Given the description of an element on the screen output the (x, y) to click on. 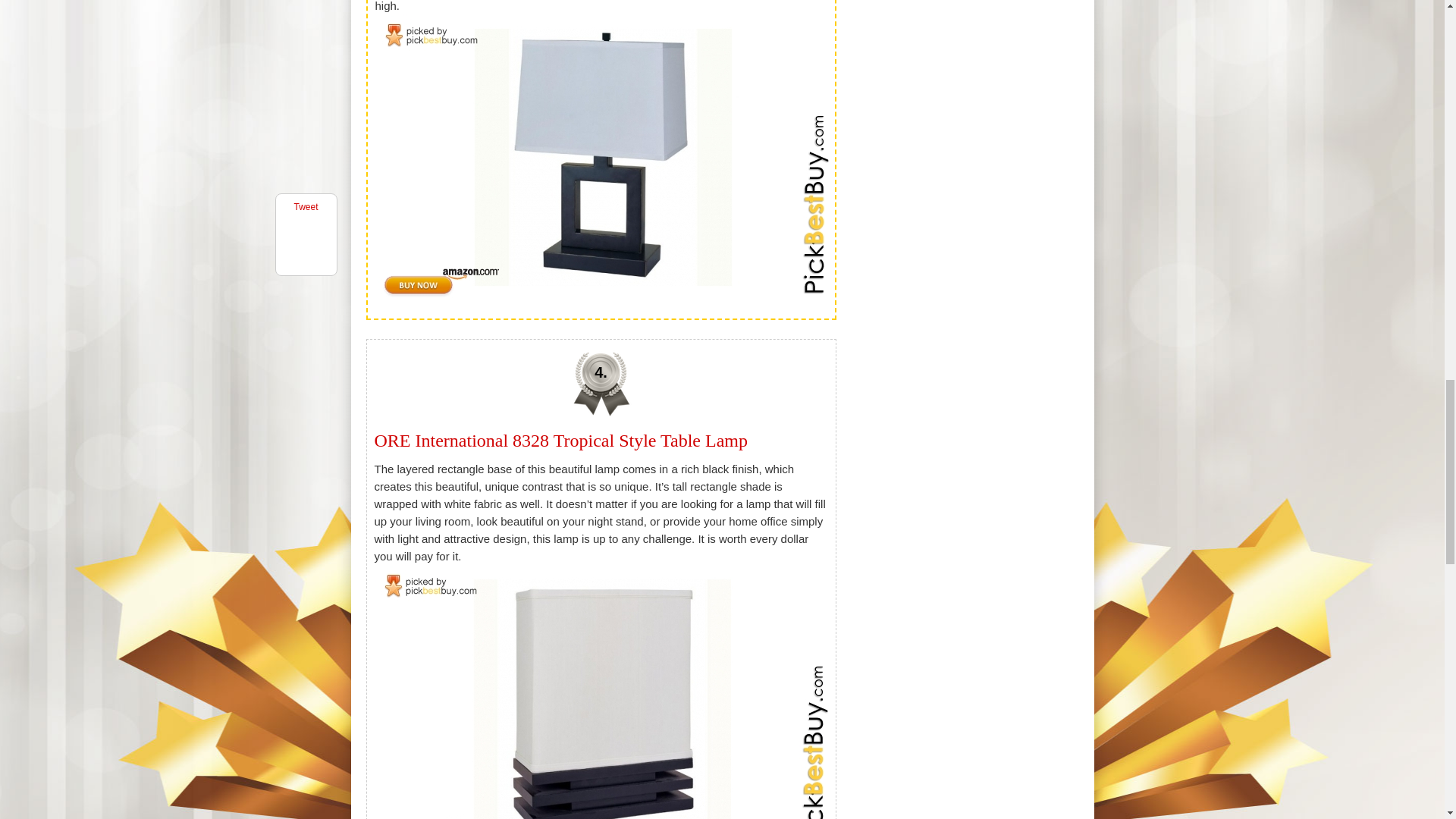
Ore International 8137B Metal Table Lamp  (601, 156)
ORE International 8328 Tropical Style Table Lamp (601, 692)
ORE International 8328 Tropical Style Table Lamp (561, 440)
